Given the description of an element on the screen output the (x, y) to click on. 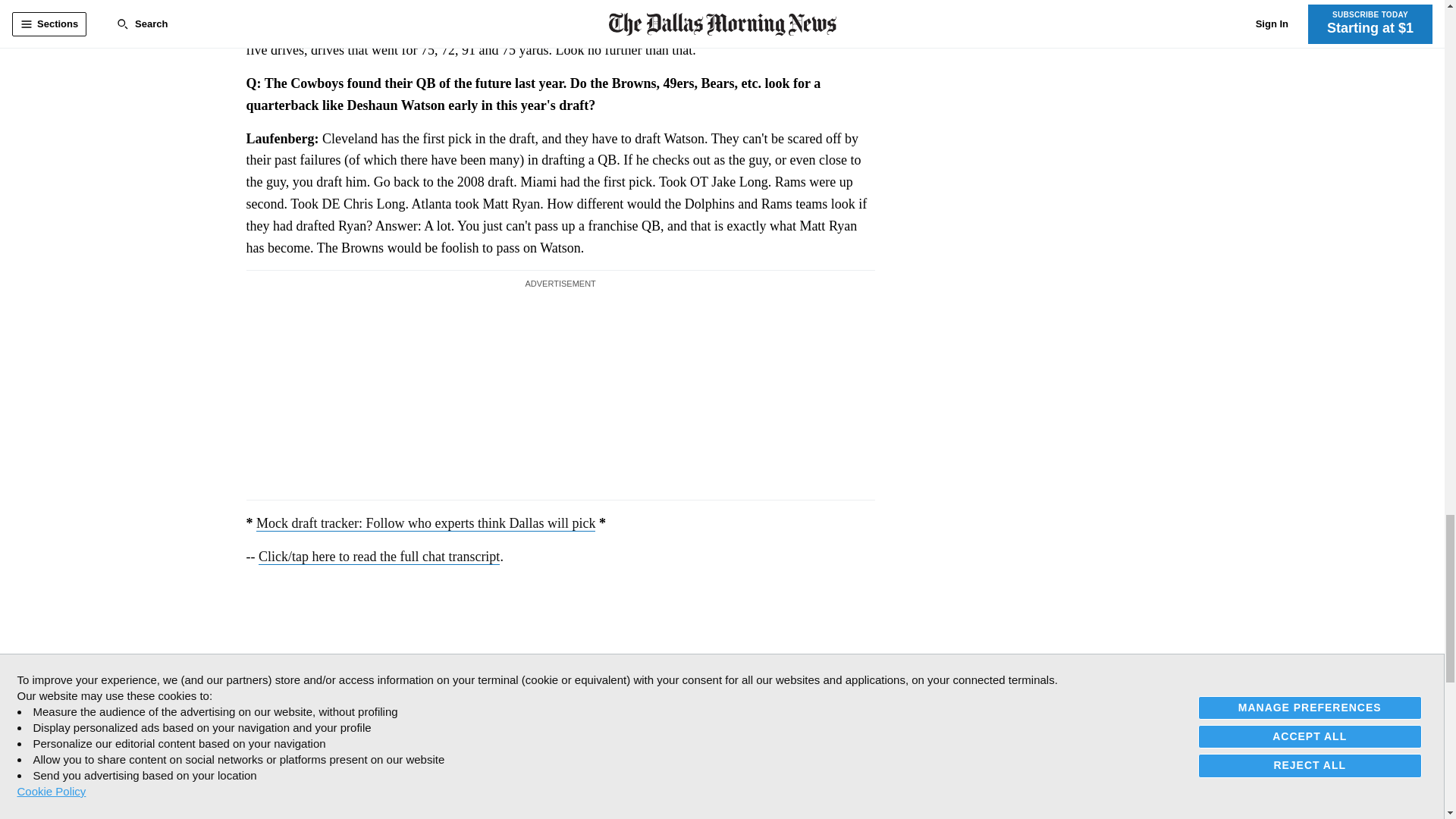
Share on Twitter (290, 737)
Print (353, 737)
Share on Facebook (258, 737)
Share via Email (321, 737)
